Given the description of an element on the screen output the (x, y) to click on. 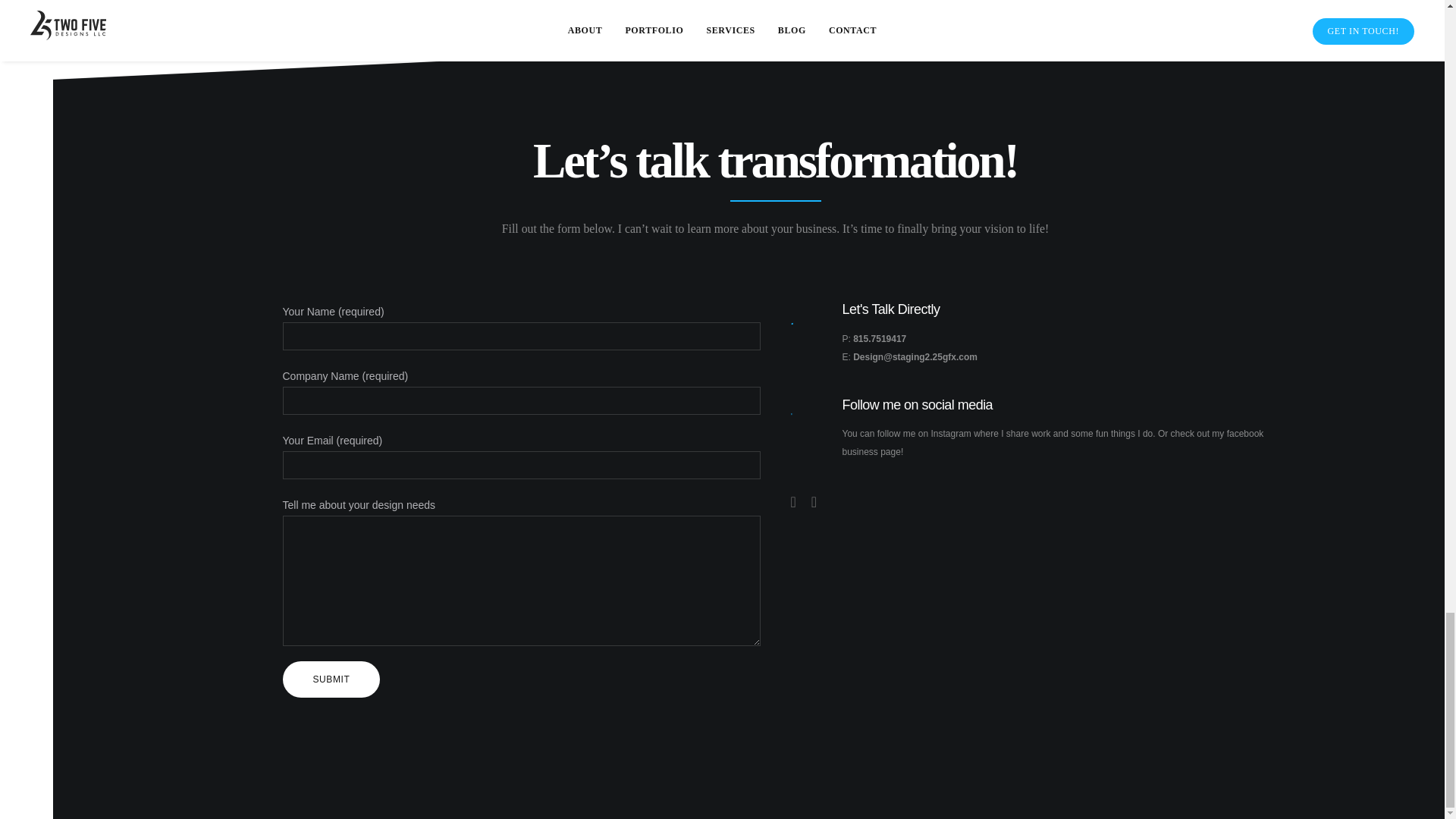
Submit (331, 678)
The Junk Removal Dudes (423, 6)
Pace Precision Lawn Care (1020, 6)
Submit (331, 678)
